Given the description of an element on the screen output the (x, y) to click on. 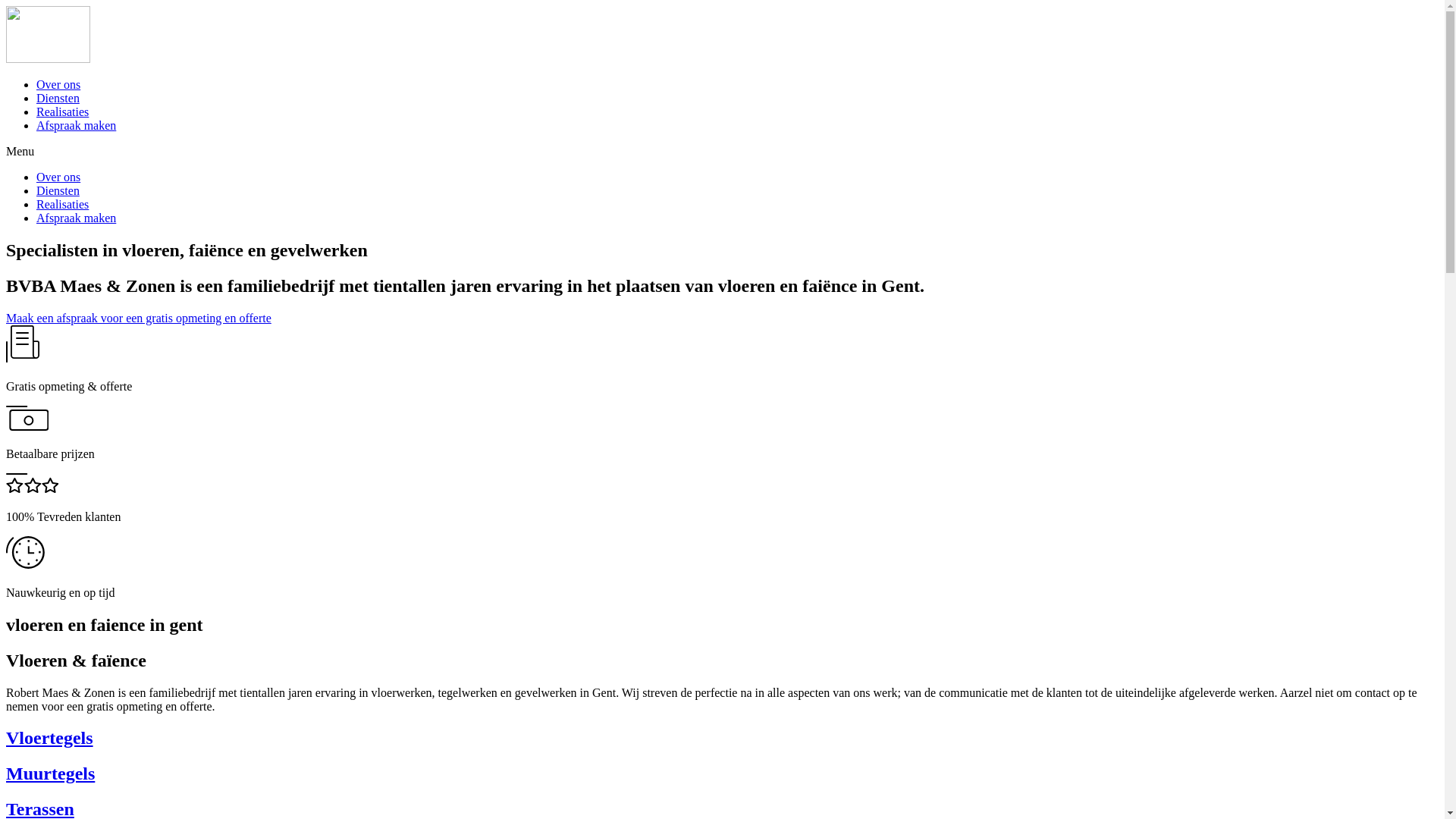
Over ons Element type: text (58, 176)
Vloertegels Element type: text (722, 738)
Afspraak maken Element type: text (76, 217)
Diensten Element type: text (57, 190)
Realisaties Element type: text (62, 203)
Over ons Element type: text (58, 84)
Maak een afspraak voor een gratis opmeting en offerte Element type: text (138, 317)
Realisaties Element type: text (62, 111)
Muurtegels Element type: text (722, 773)
Afspraak maken Element type: text (76, 125)
Diensten Element type: text (57, 97)
